Given the description of an element on the screen output the (x, y) to click on. 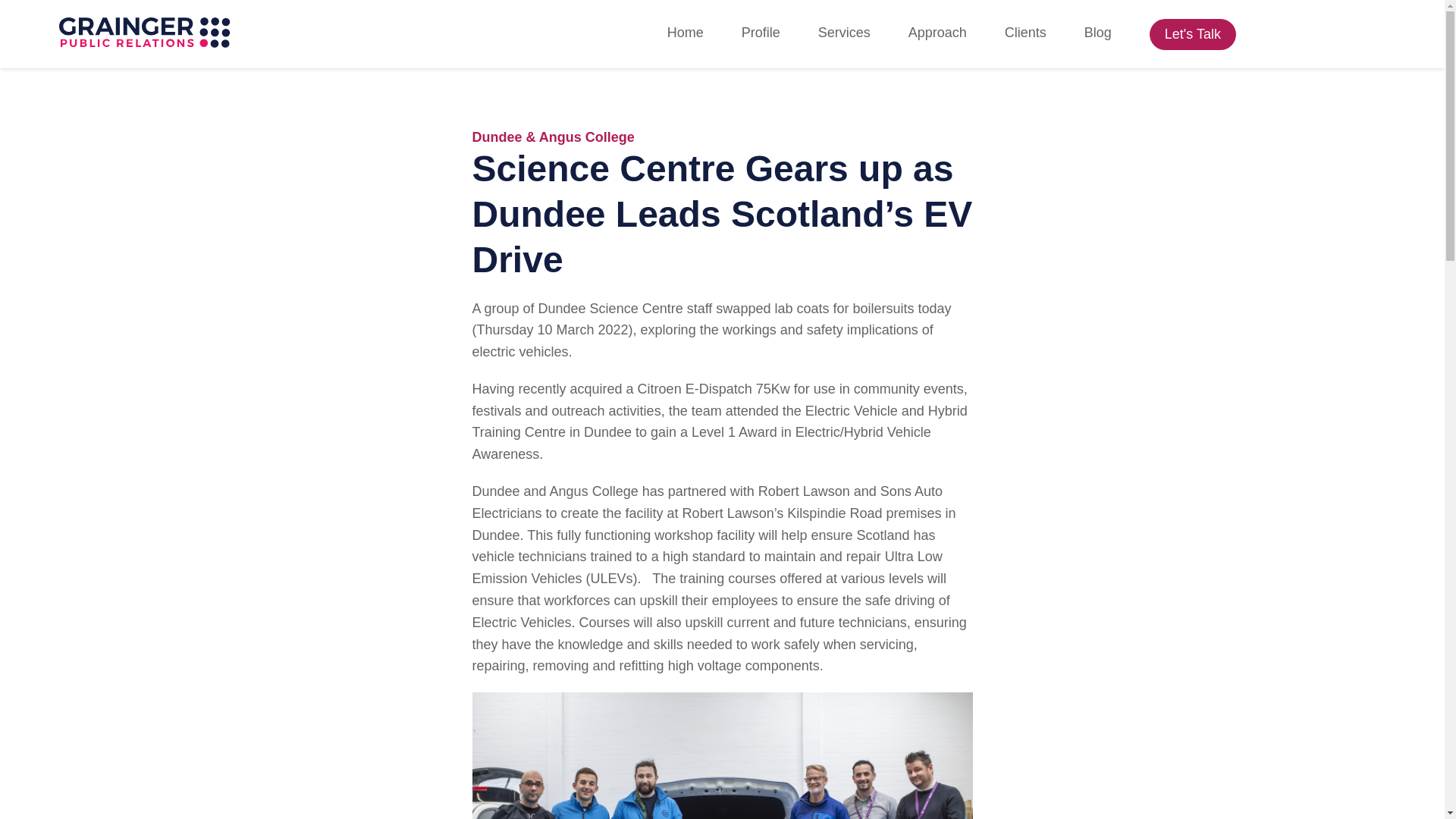
Let's Talk (1193, 33)
Profile (760, 33)
Return to Grainger PR homepage (144, 33)
Home (684, 33)
Clients (1025, 33)
Approach (937, 33)
Services (844, 33)
